Given the description of an element on the screen output the (x, y) to click on. 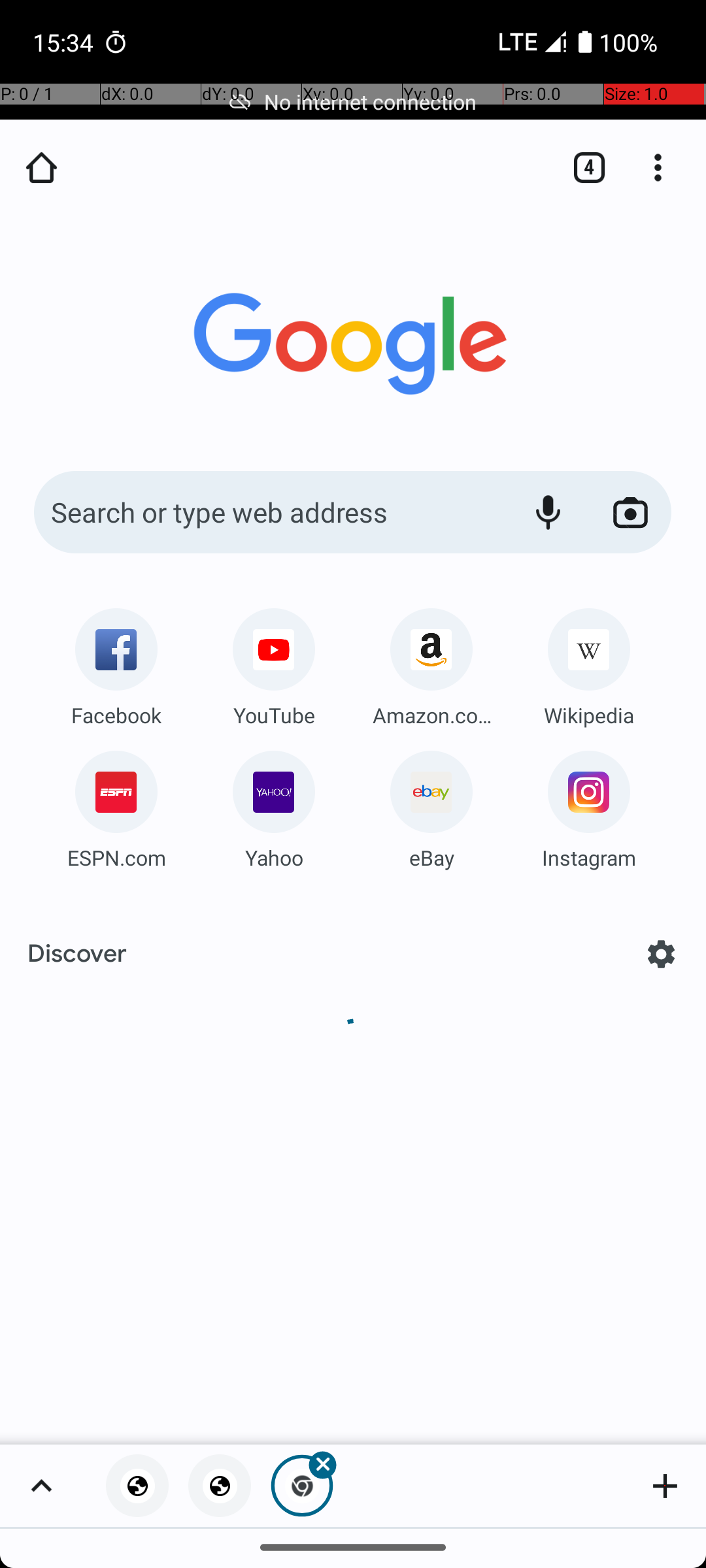
Show group's tabs in fullscreen grid Element type: android.widget.ImageView (41, 1485)
Add new tab to group Element type: android.widget.ImageView (664, 1485)
Privacy error, tab Element type: android.widget.ImageButton (137, 1485)
, tab Element type: android.widget.ImageButton (219, 1485)
Close New tab tab Element type: android.widget.ImageButton (301, 1485)
